Given the description of an element on the screen output the (x, y) to click on. 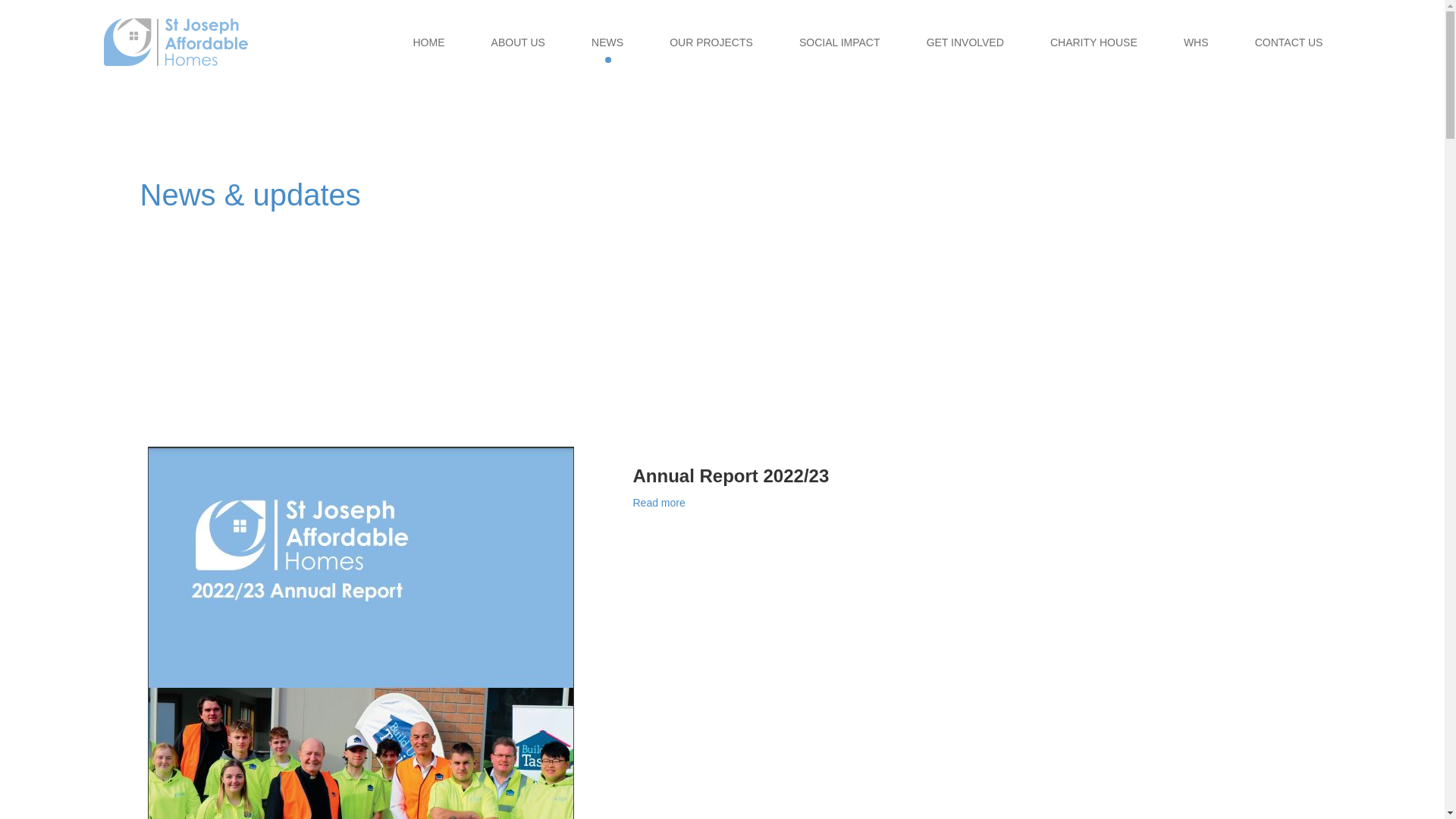
ABOUT US Element type: text (518, 42)
GET INVOLVED Element type: text (965, 42)
CHARITY HOUSE Element type: text (1093, 42)
HOME Element type: text (428, 42)
Read more Element type: text (658, 502)
OUR PROJECTS Element type: text (711, 42)
SOCIAL IMPACT Element type: text (839, 42)
NEWS Element type: text (607, 42)
WHS Element type: text (1195, 42)
CONTACT US Element type: text (1289, 42)
